Given the description of an element on the screen output the (x, y) to click on. 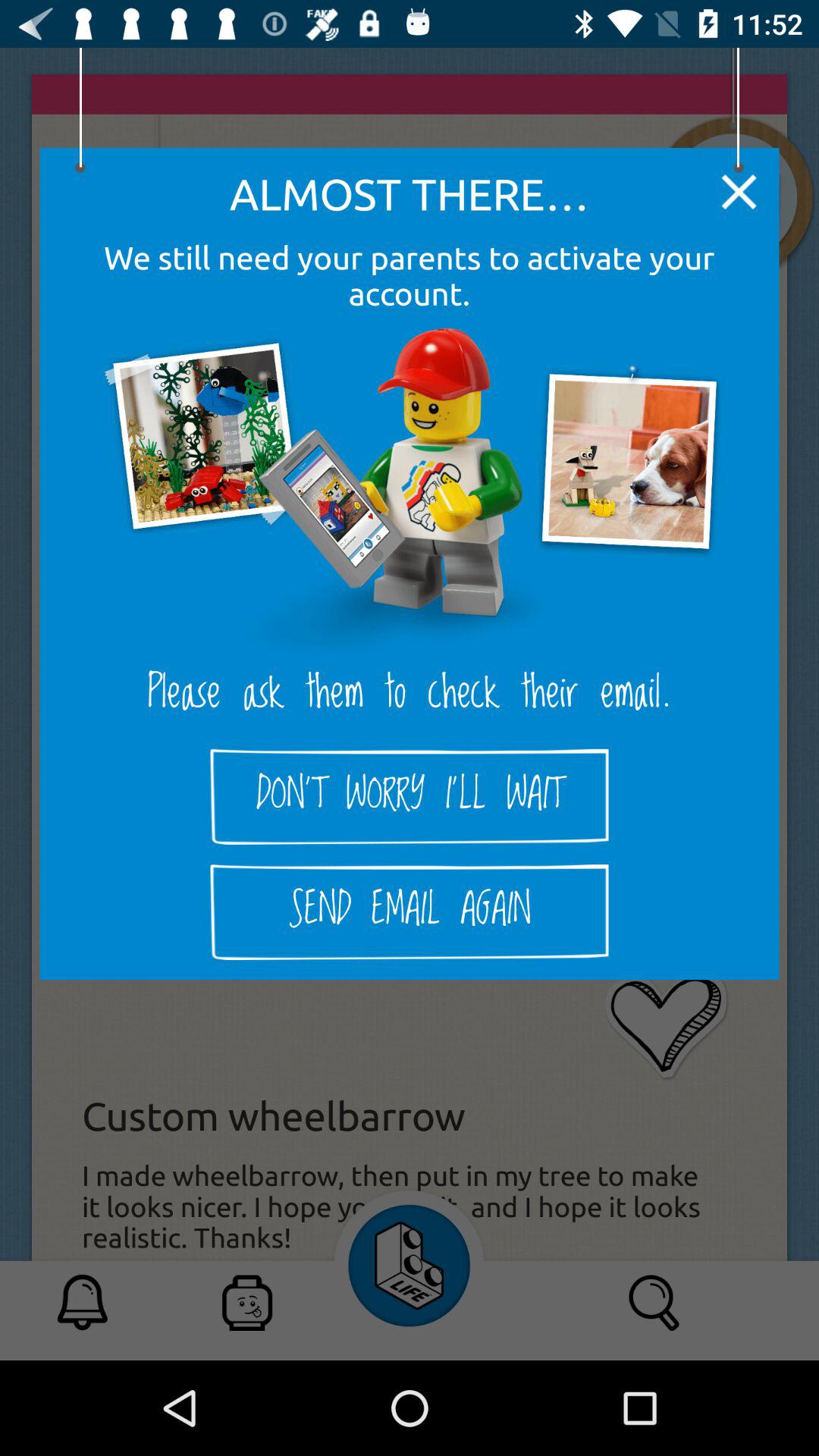
select item below please ask them icon (409, 796)
